Given the description of an element on the screen output the (x, y) to click on. 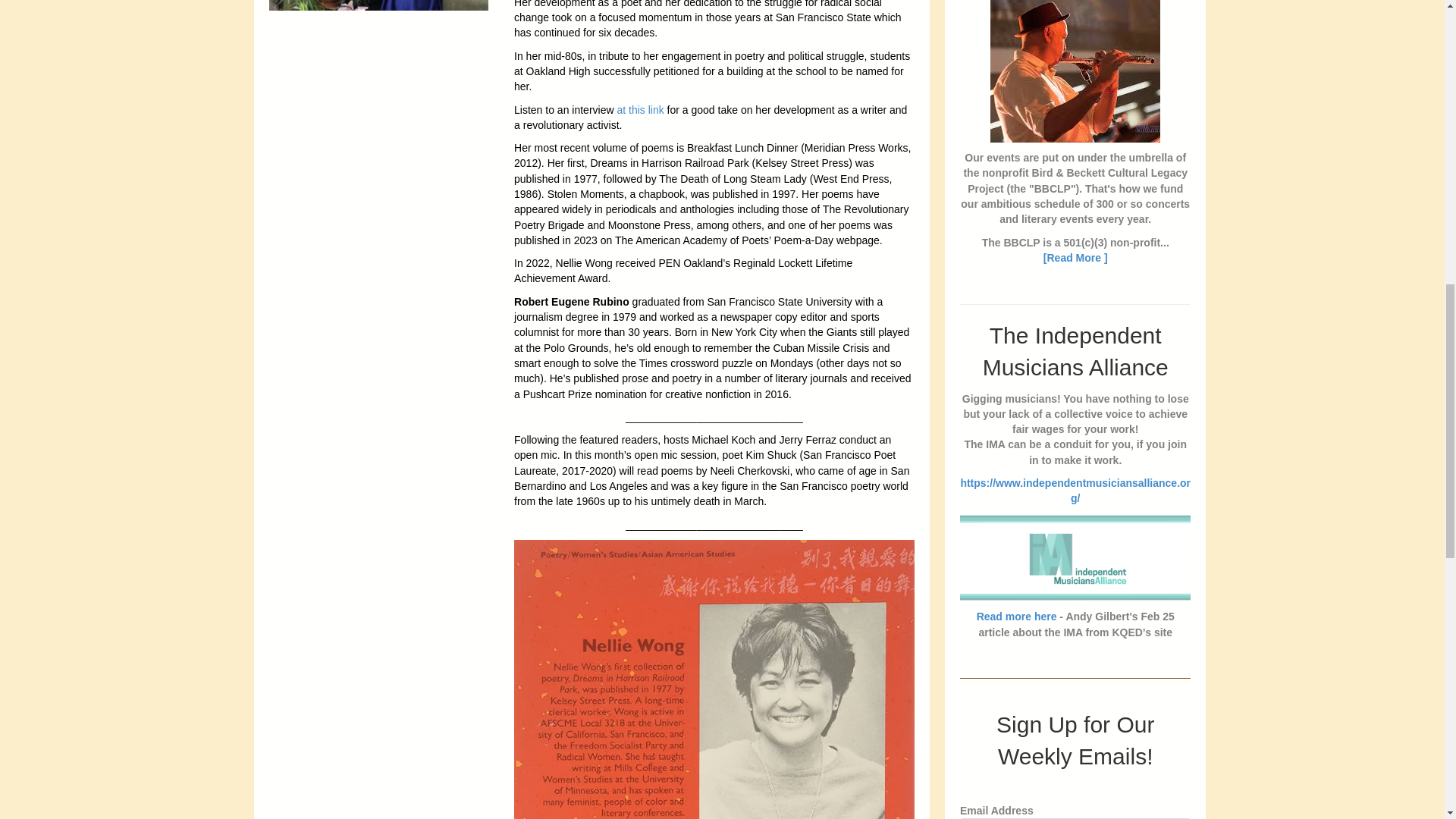
The Independent Musicians Alliance (1075, 351)
at this link (639, 109)
Read more here (1016, 616)
